Given the description of an element on the screen output the (x, y) to click on. 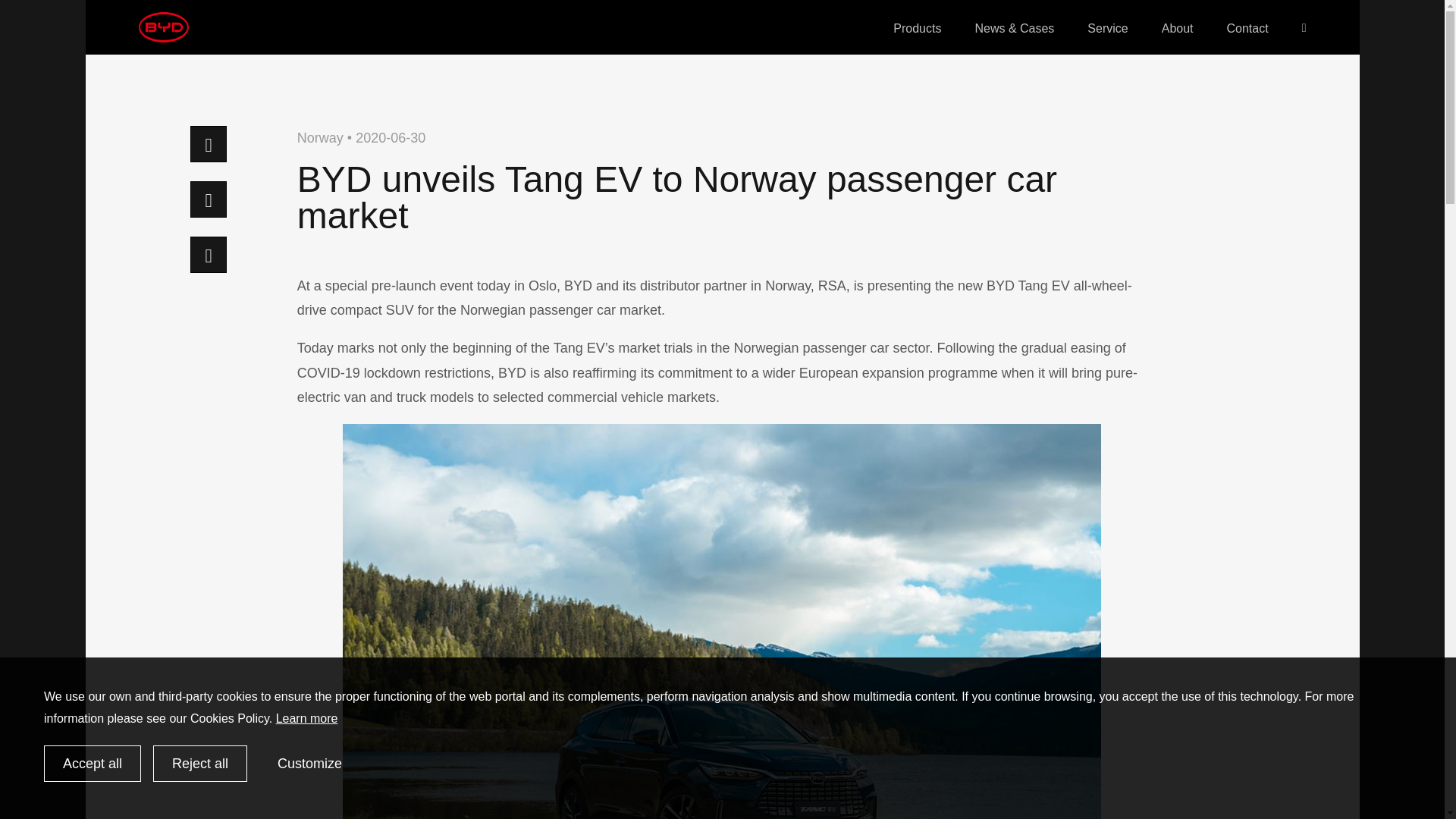
Learn more (306, 717)
